Given the description of an element on the screen output the (x, y) to click on. 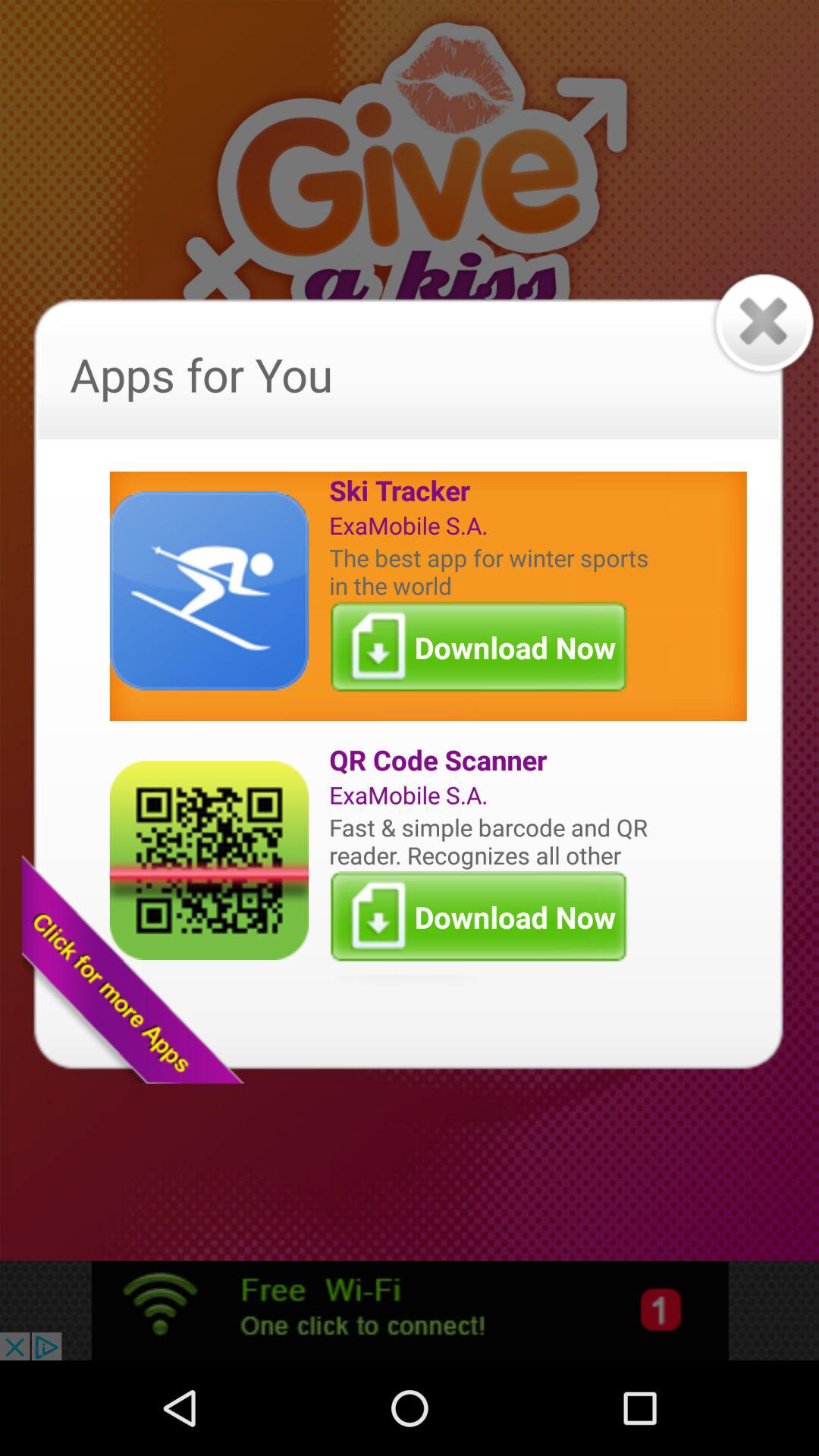
turn on ski tracker item (492, 490)
